Given the description of an element on the screen output the (x, y) to click on. 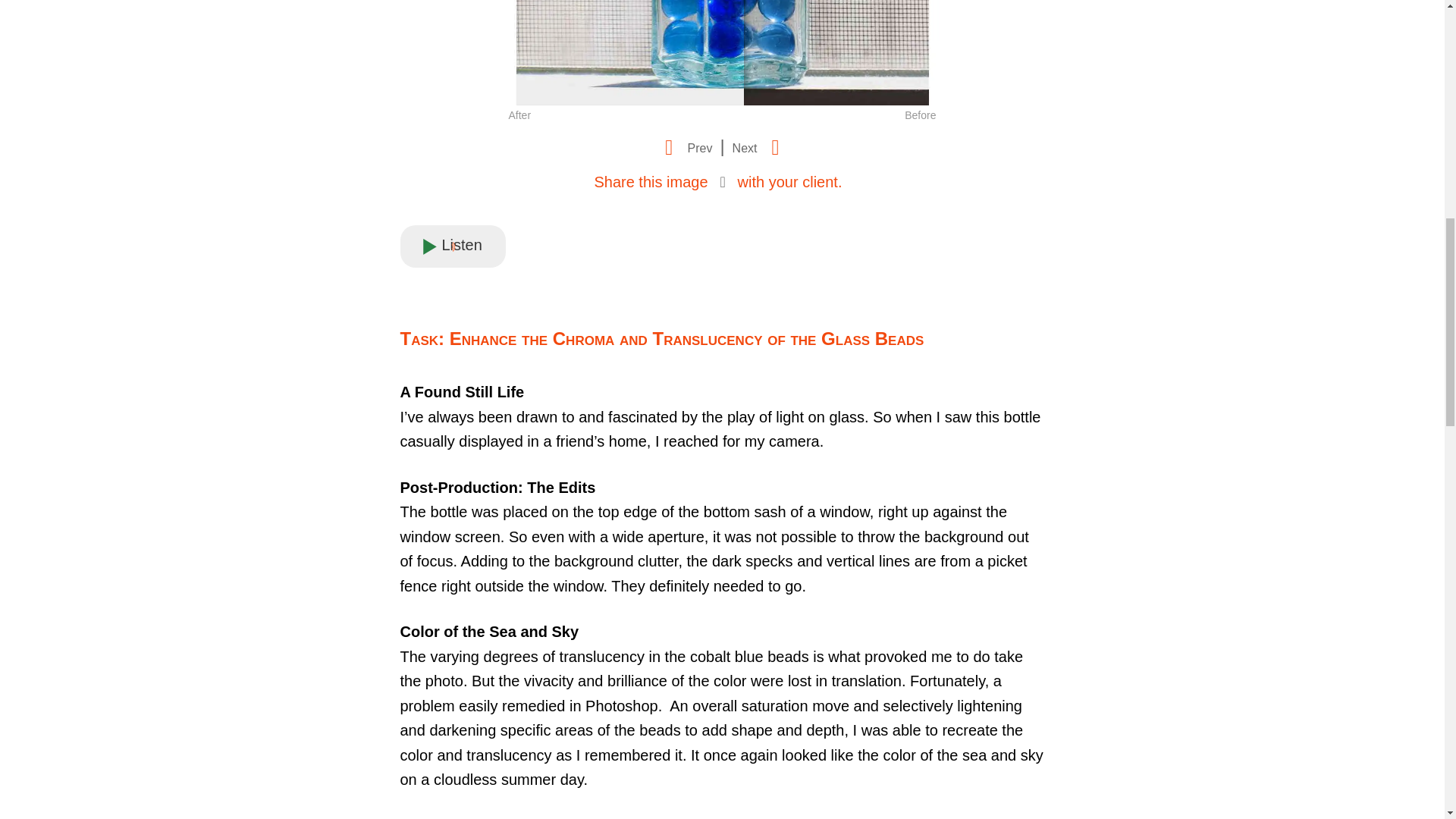
Listen (452, 246)
Share this image with your client. (717, 181)
Next (761, 146)
Prev (683, 146)
55 (722, 52)
